Given the description of an element on the screen output the (x, y) to click on. 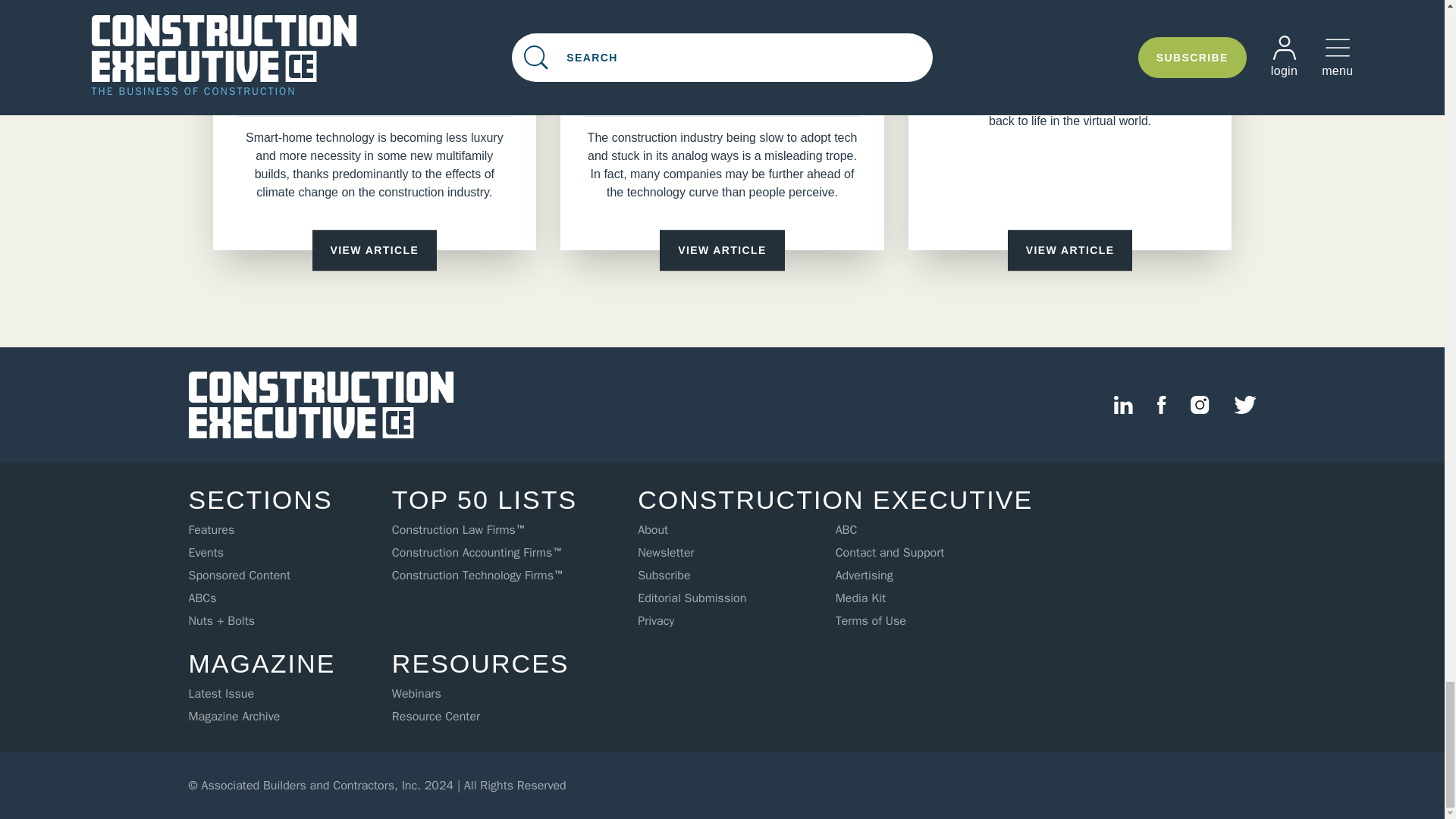
VIEW ARTICLE (1069, 250)
VIEW ARTICLE (375, 250)
VIEW ARTICLE (721, 250)
